Given the description of an element on the screen output the (x, y) to click on. 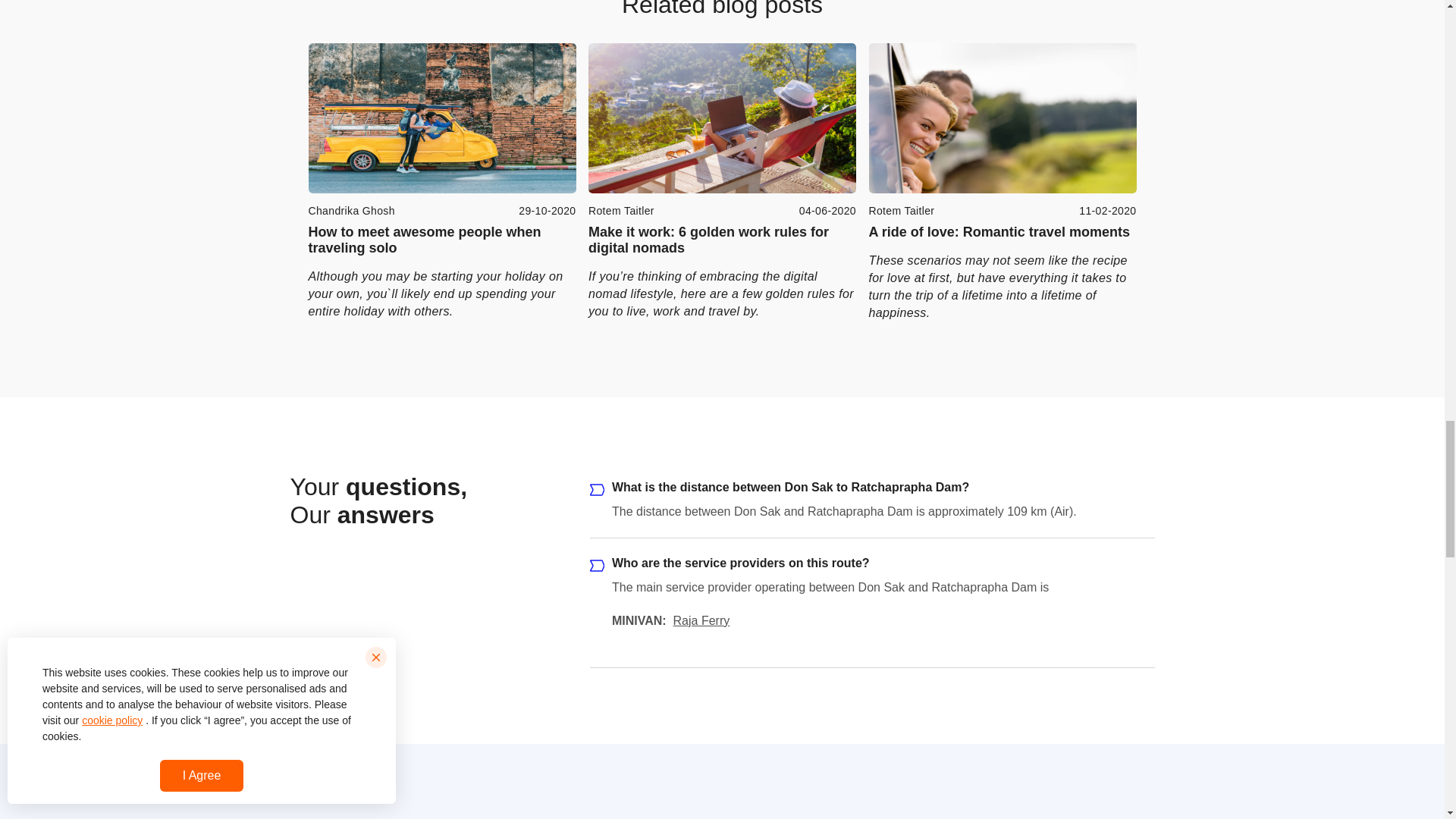
Raja Ferry (701, 620)
